Given the description of an element on the screen output the (x, y) to click on. 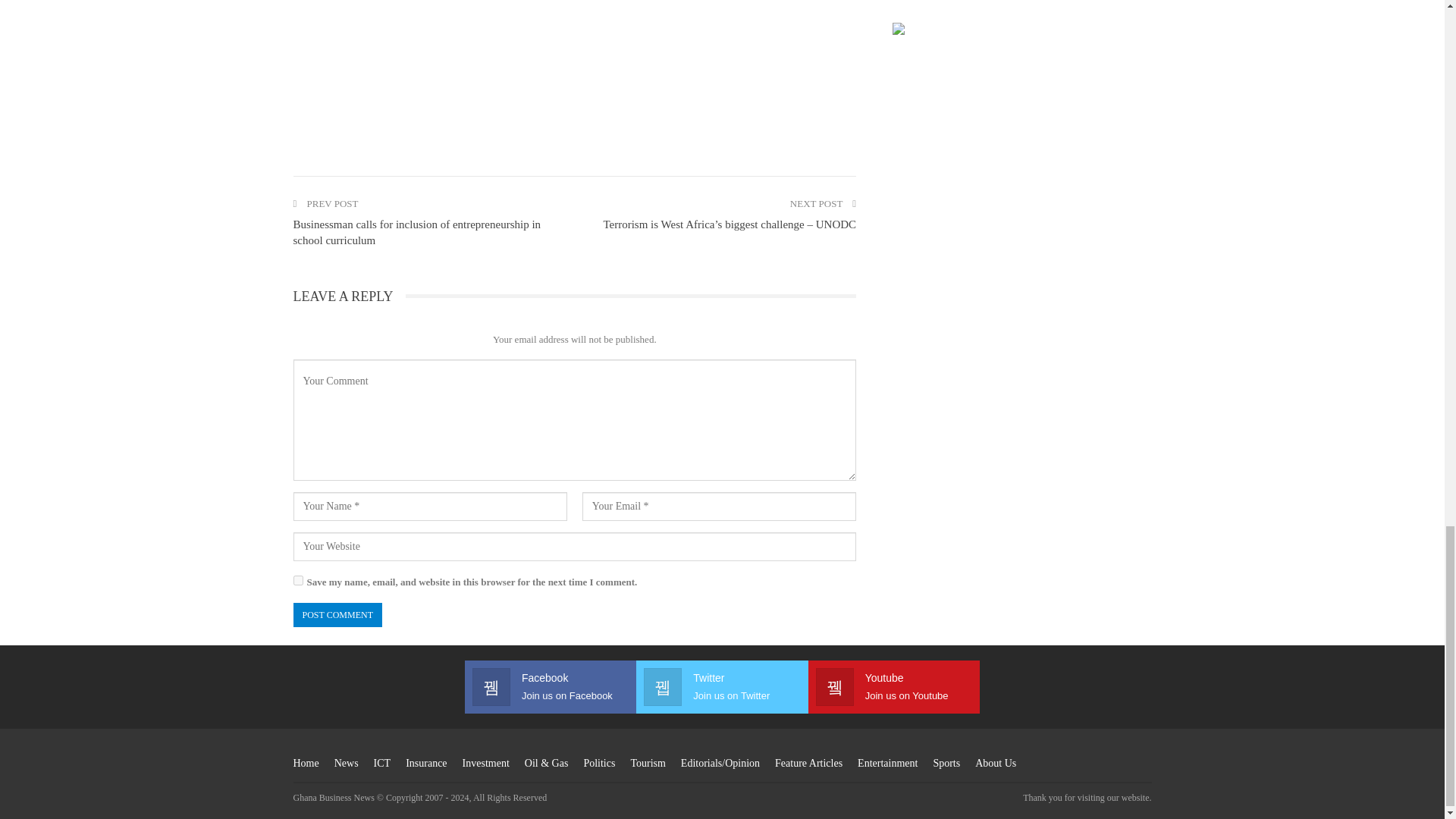
Post Comment (336, 614)
yes (297, 580)
Post Comment (336, 614)
